Given the description of an element on the screen output the (x, y) to click on. 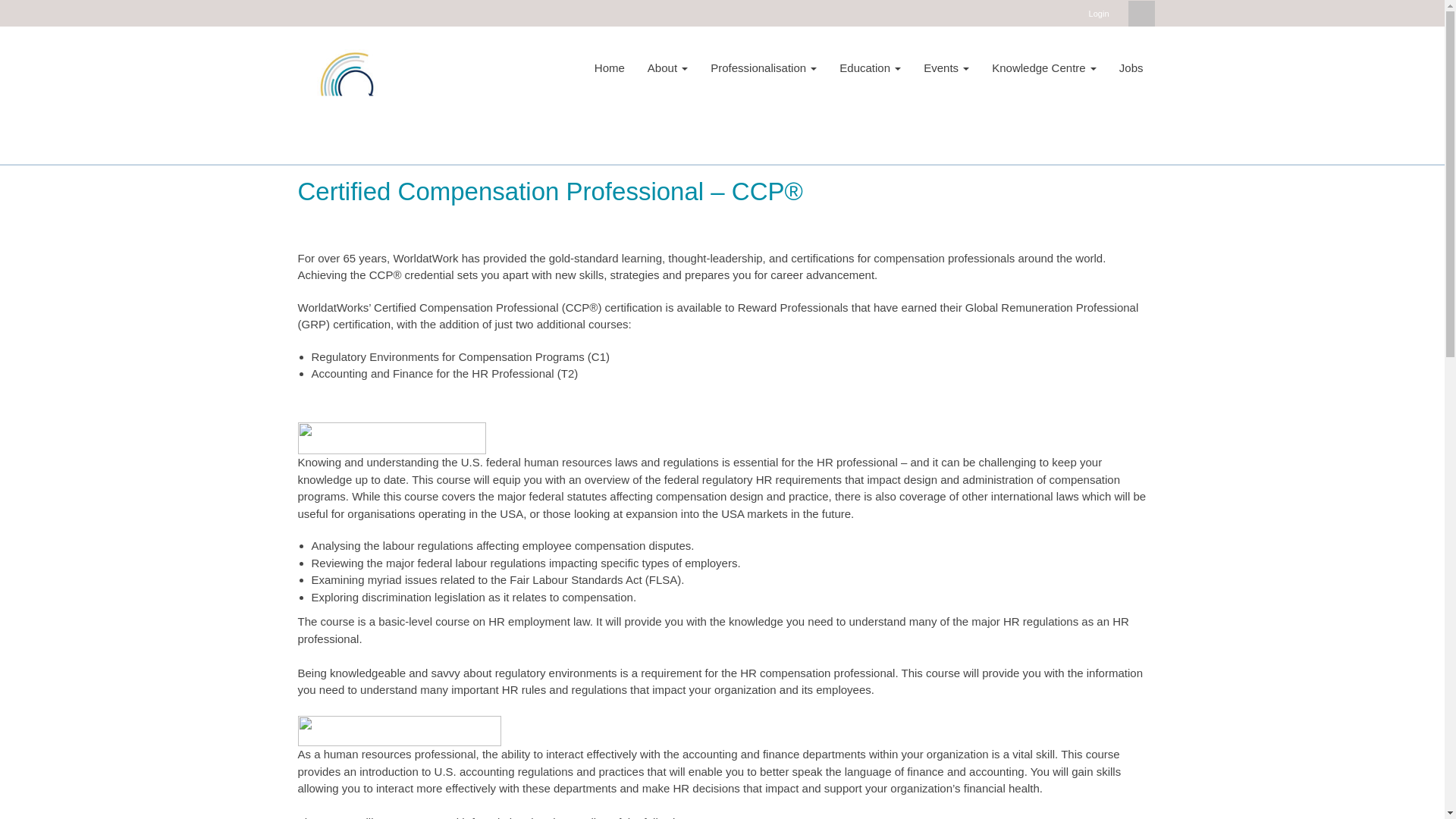
Search (1141, 13)
Education (870, 67)
Login (1099, 13)
Home (609, 67)
Professionalisation (763, 67)
Login (1099, 13)
About (667, 67)
